Given the description of an element on the screen output the (x, y) to click on. 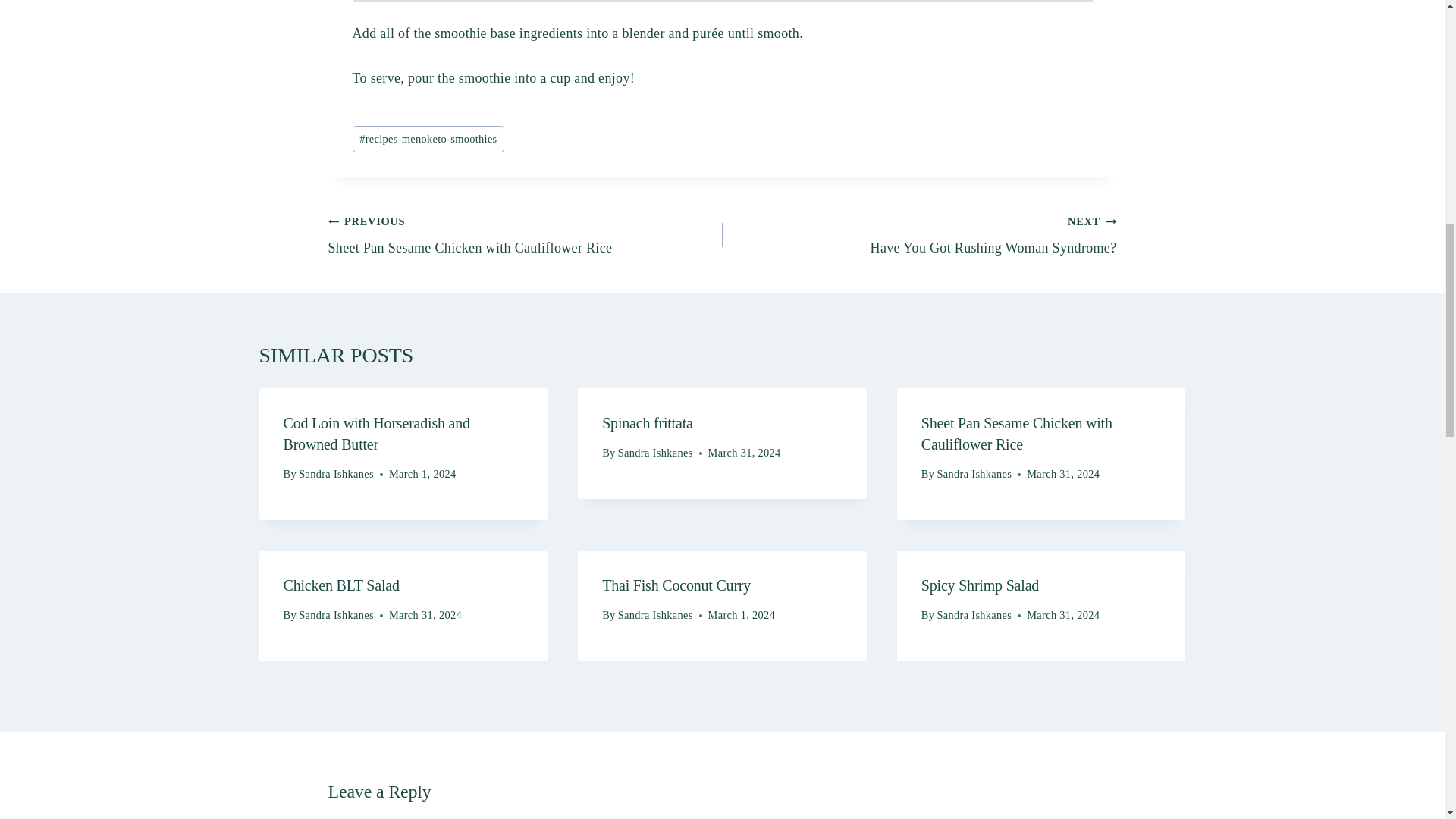
Spinach frittata (647, 422)
Sandra Ishkanes (919, 234)
Sheet Pan Sesame Chicken with Cauliflower Rice (973, 473)
Sandra Ishkanes (1016, 433)
Sandra Ishkanes (336, 473)
recipes-menoketo-smoothies (336, 614)
Cod Loin with Horseradish and Browned Butter (524, 234)
Sandra Ishkanes (427, 139)
Chicken BLT Salad (376, 433)
